Given the description of an element on the screen output the (x, y) to click on. 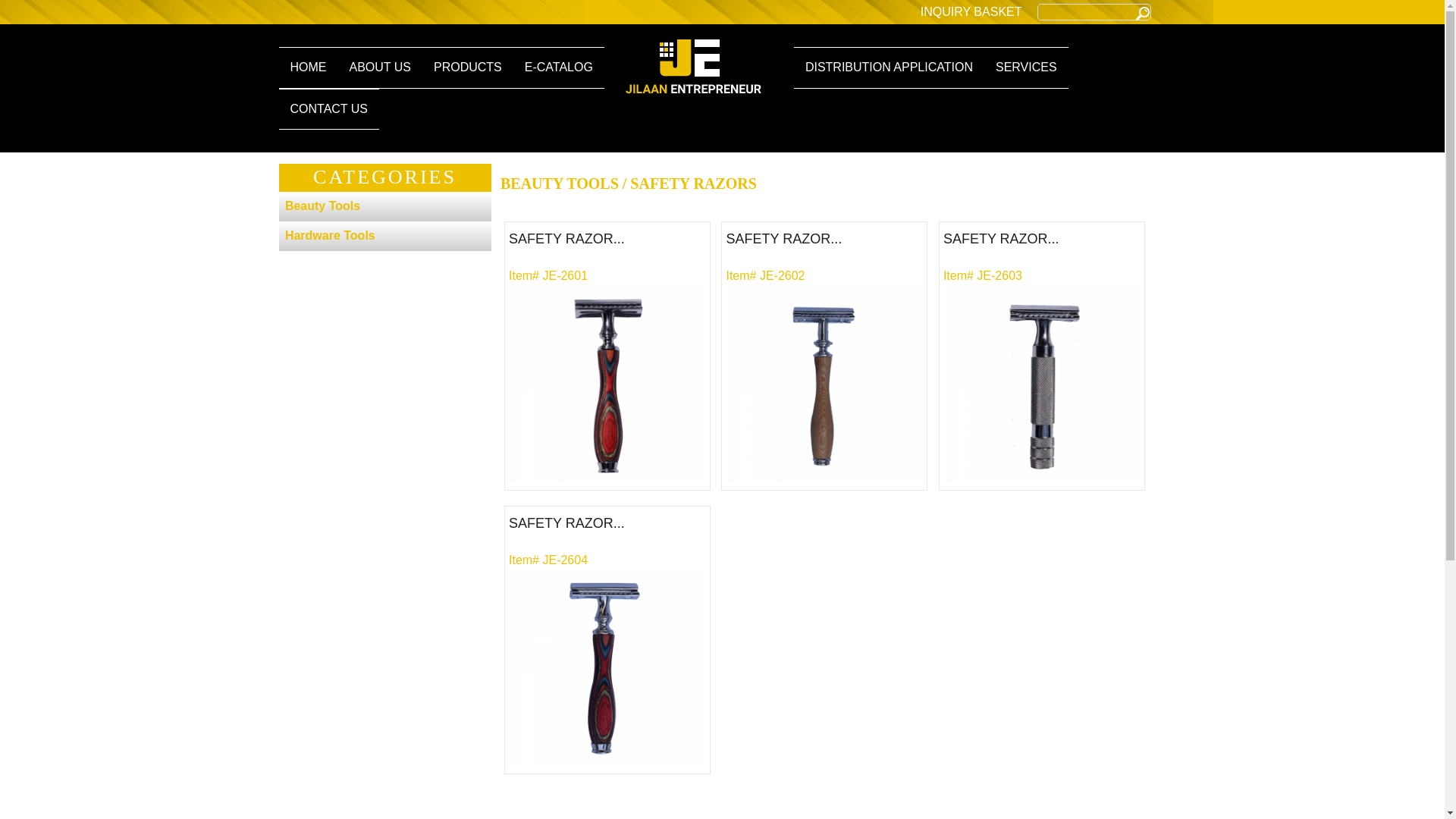
ABOUT US (379, 67)
PRODUCTS (467, 67)
HOME (307, 67)
